Given the description of an element on the screen output the (x, y) to click on. 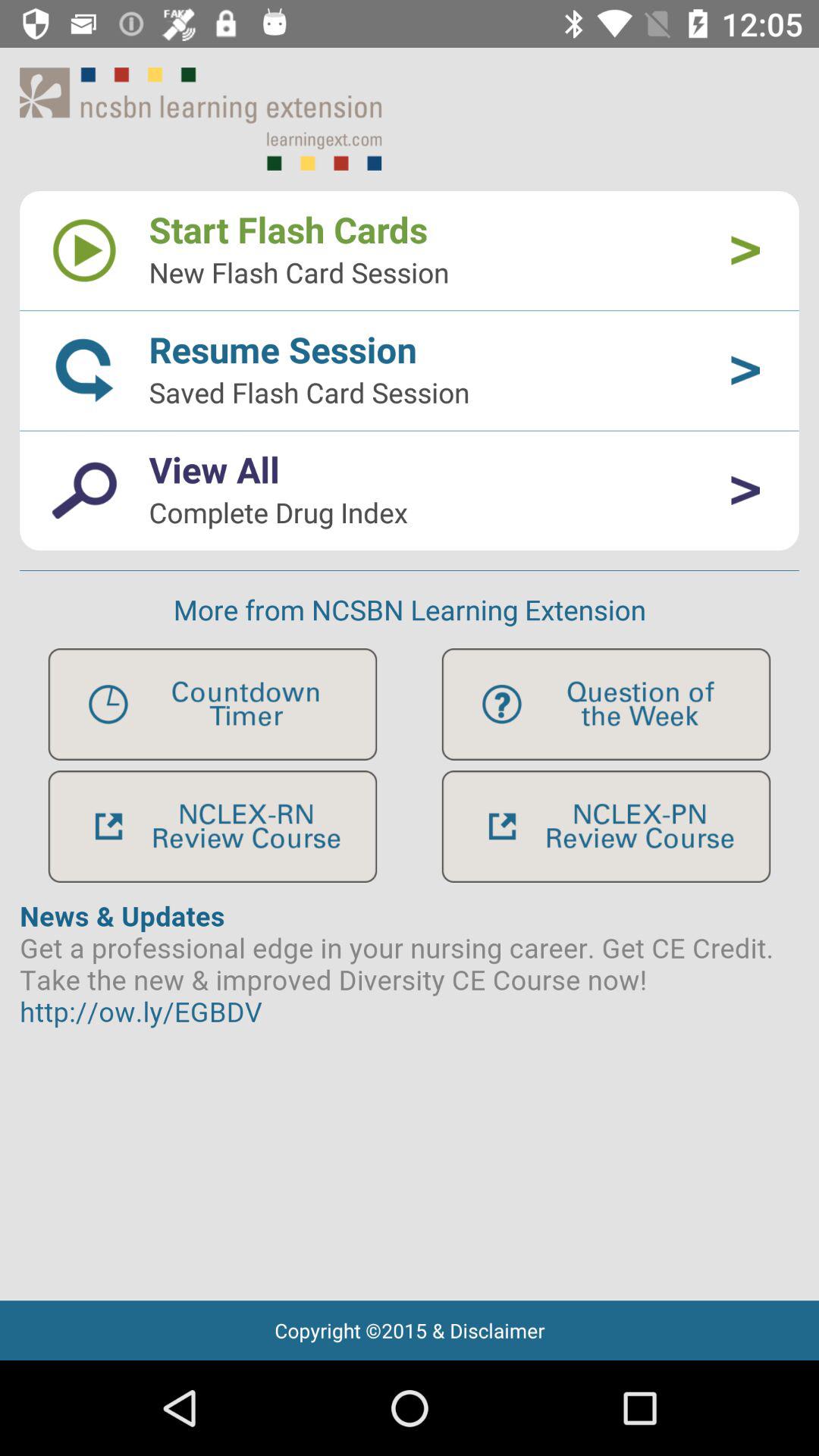
go to question (606, 704)
